Given the description of an element on the screen output the (x, y) to click on. 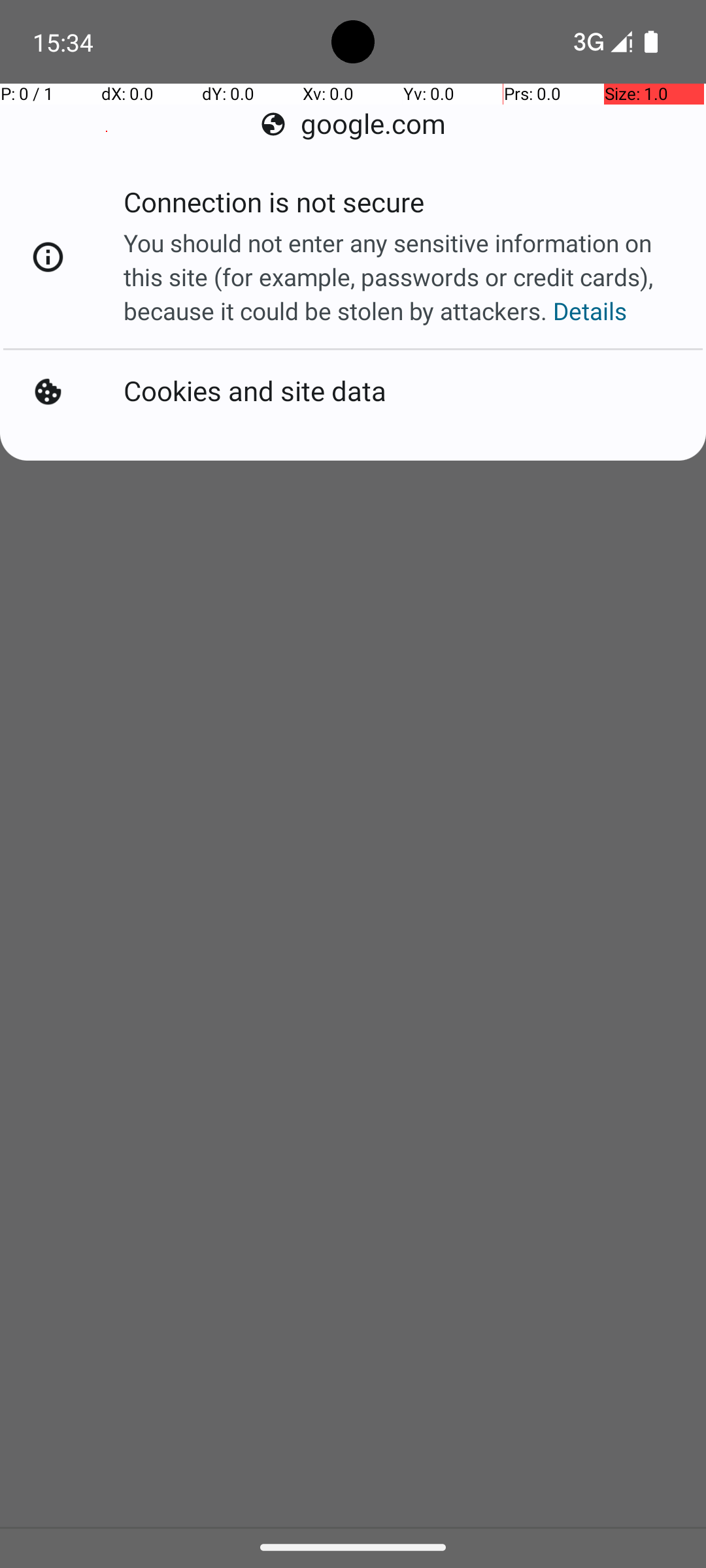
google.com Element type: android.widget.TextView (352, 124)
Connection is not secure Element type: android.widget.TextView (273, 206)
You should not enter any sensitive information on this site (for example, passwords or credit cards), because it could be stolen by attackers. Details Element type: android.widget.TextView (400, 276)
Cookies and site data Element type: android.widget.TextView (254, 391)
